Given the description of an element on the screen output the (x, y) to click on. 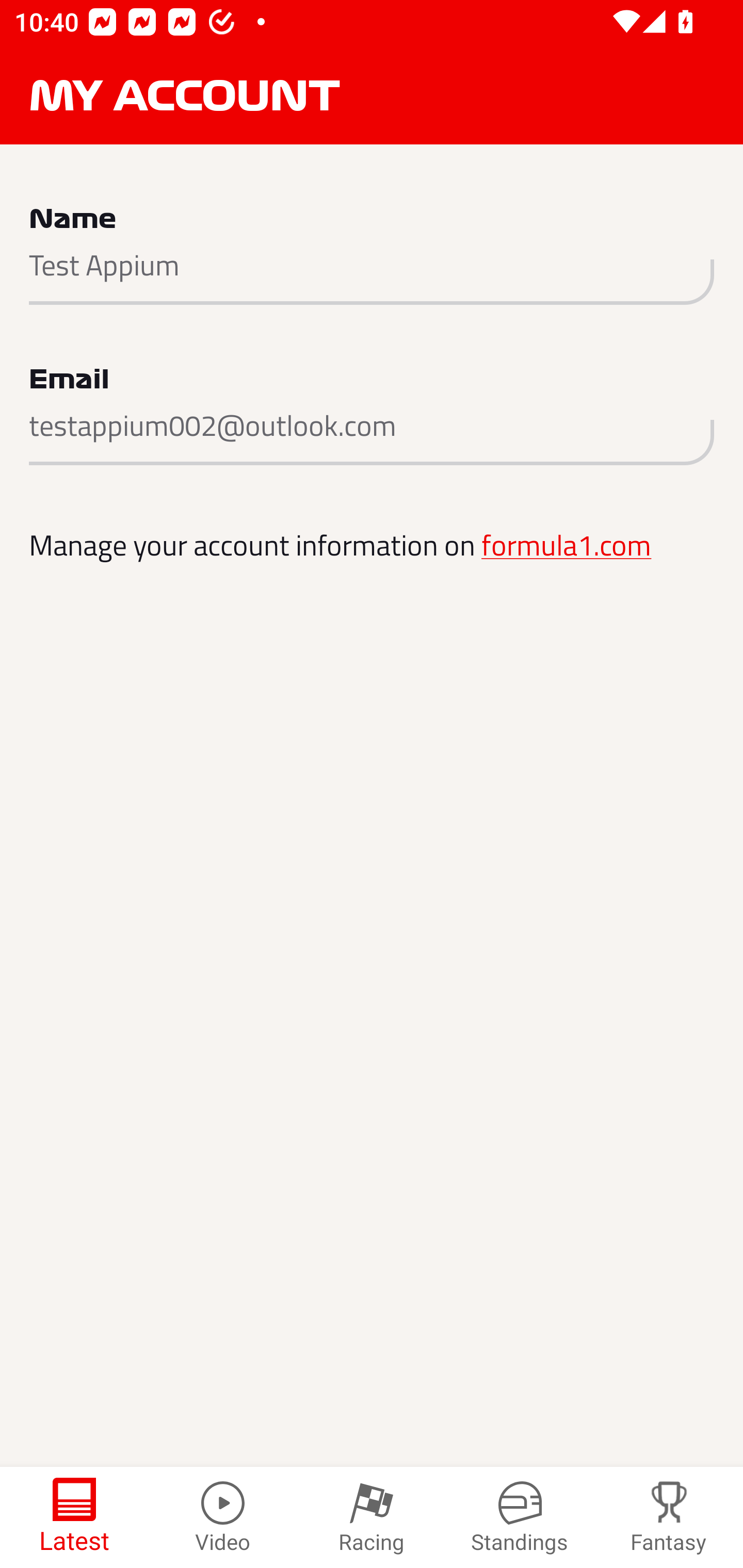
Video (222, 1517)
Racing (371, 1517)
Standings (519, 1517)
Fantasy (668, 1517)
